Given the description of an element on the screen output the (x, y) to click on. 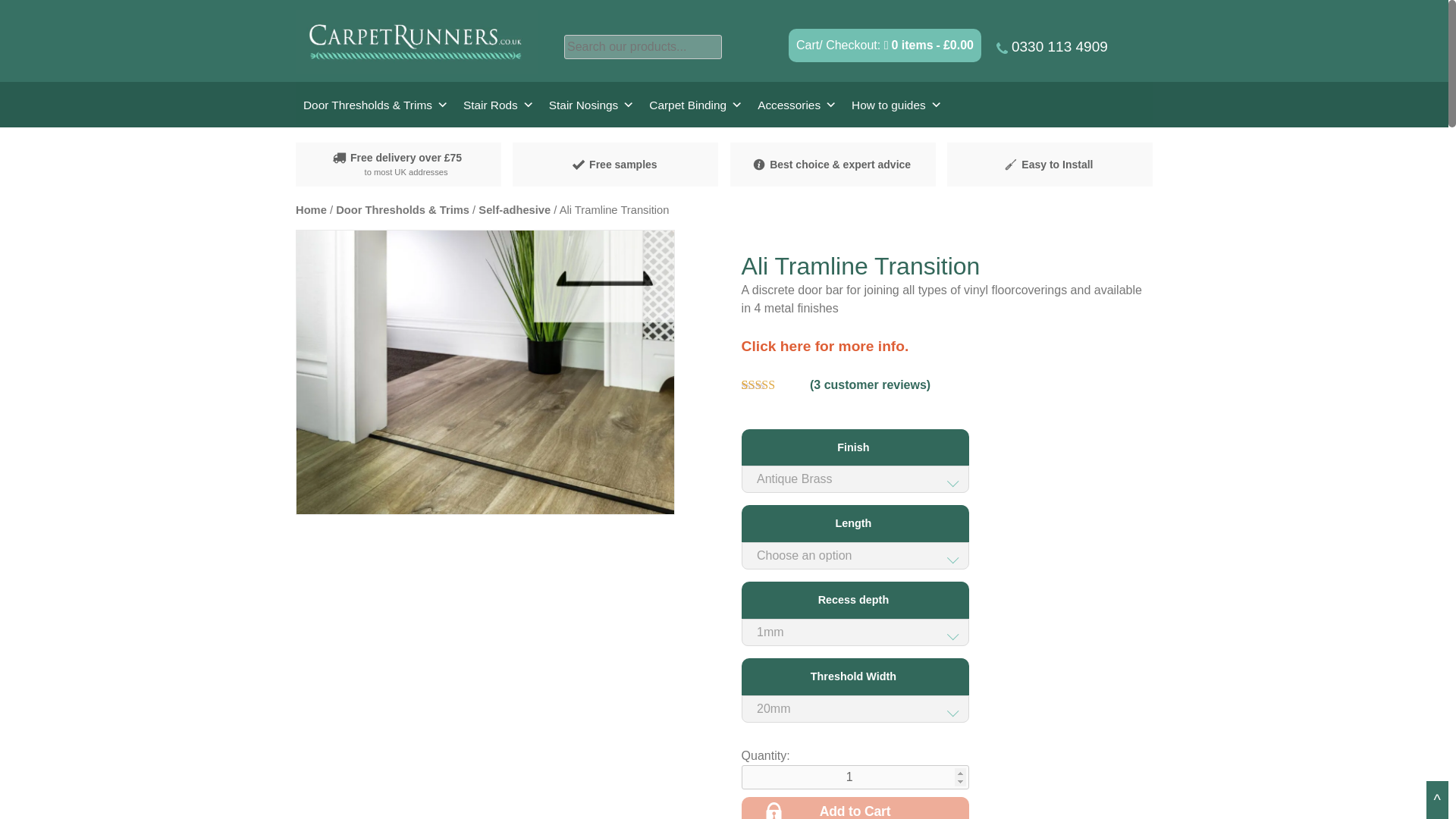
Stair Rods (498, 105)
1 (855, 776)
Start shopping (928, 44)
